Given the description of an element on the screen output the (x, y) to click on. 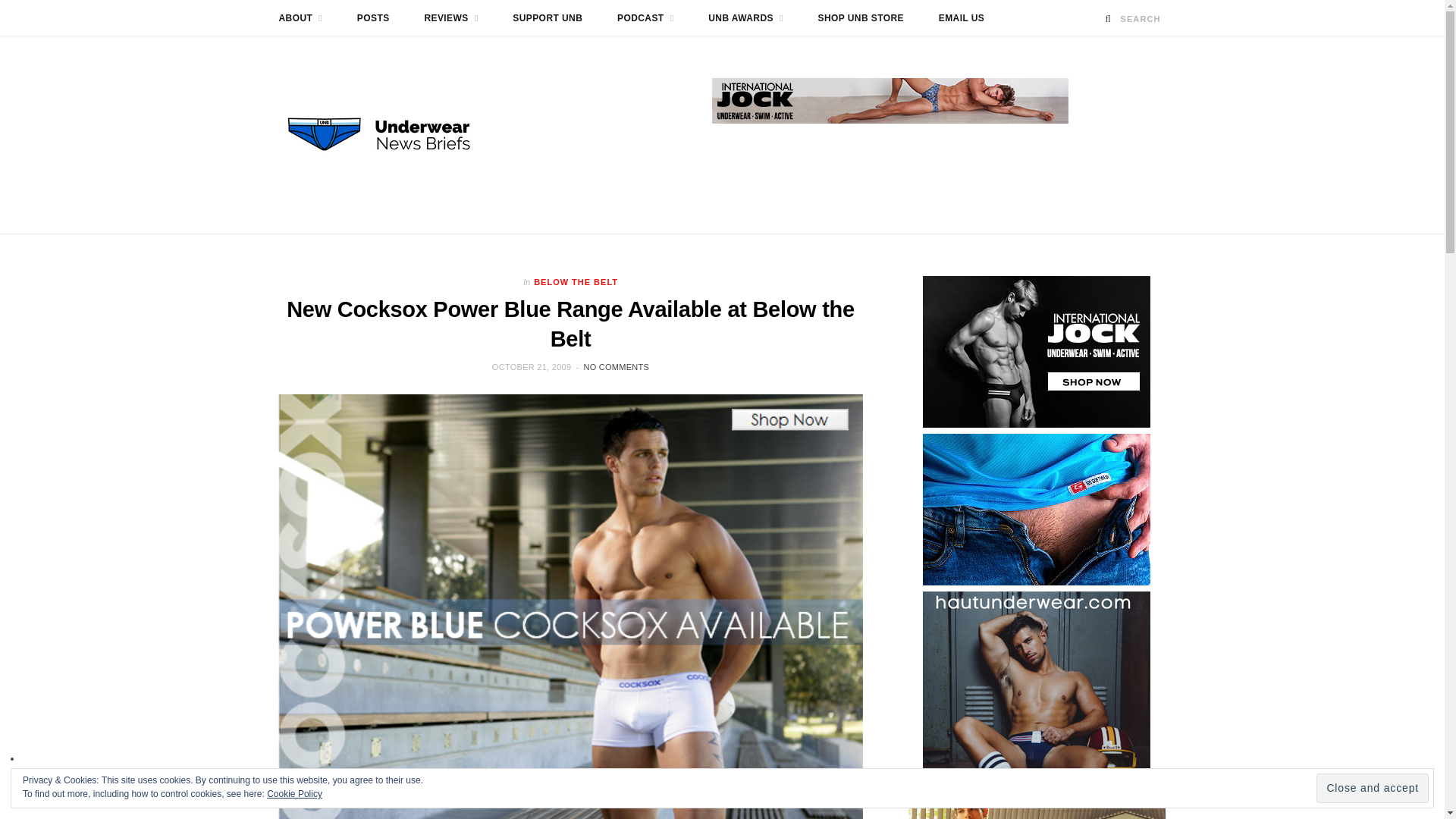
Close and accept (1372, 788)
PODCAST (644, 18)
ABOUT (299, 18)
SHOP UNB STORE (861, 18)
SUPPORT UNB (547, 18)
UNB AWARDS (746, 18)
POSTS (373, 18)
REVIEWS (450, 18)
EMAIL US (961, 18)
Underwear News Briefs (392, 134)
